Given the description of an element on the screen output the (x, y) to click on. 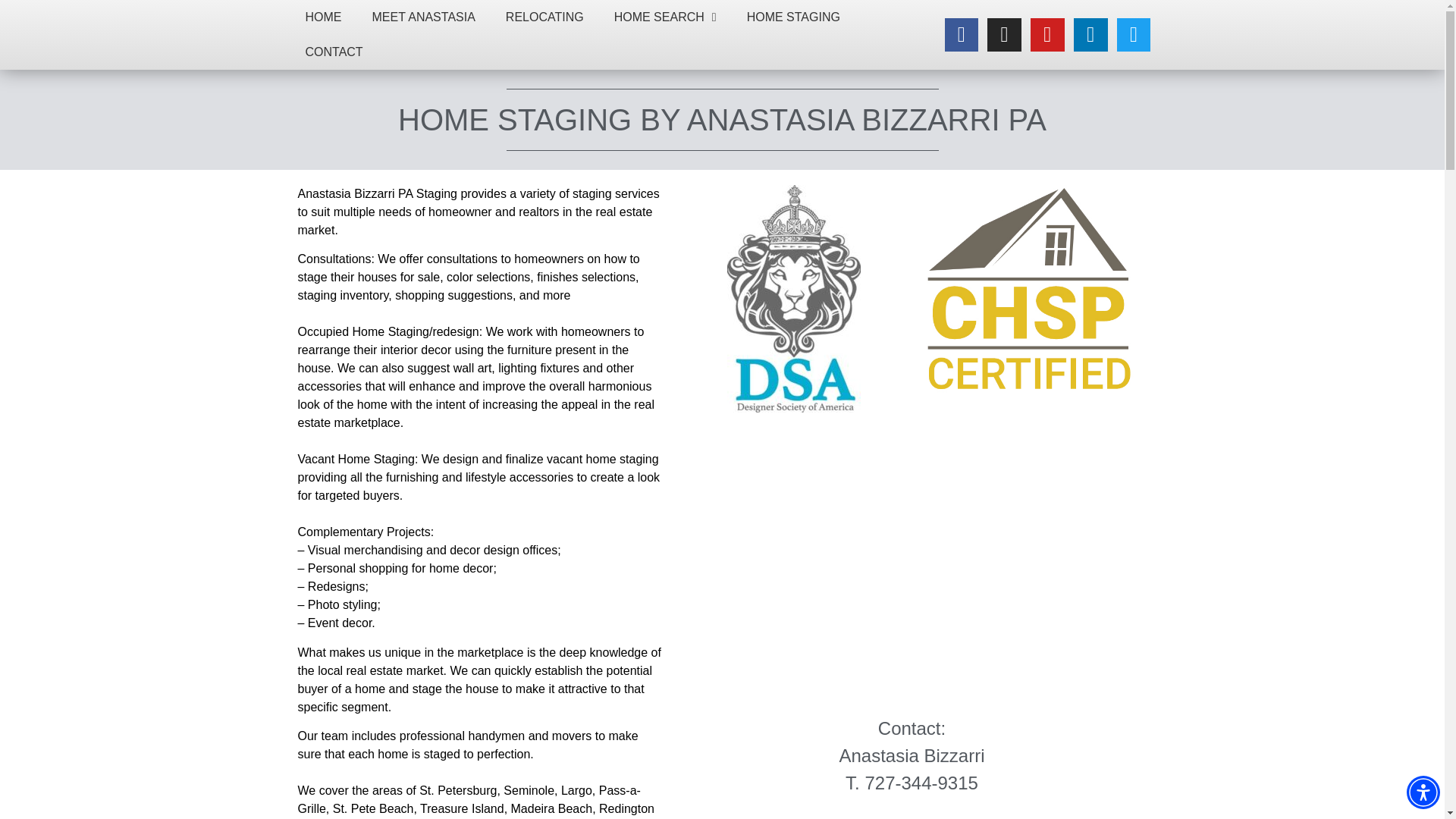
CONTACT (333, 52)
MEET ANASTASIA (422, 17)
HOME (322, 17)
HOME STAGING (794, 17)
RELOCATING (544, 17)
Accessibility Menu (1422, 792)
HOME SEARCH (665, 17)
